Given the description of an element on the screen output the (x, y) to click on. 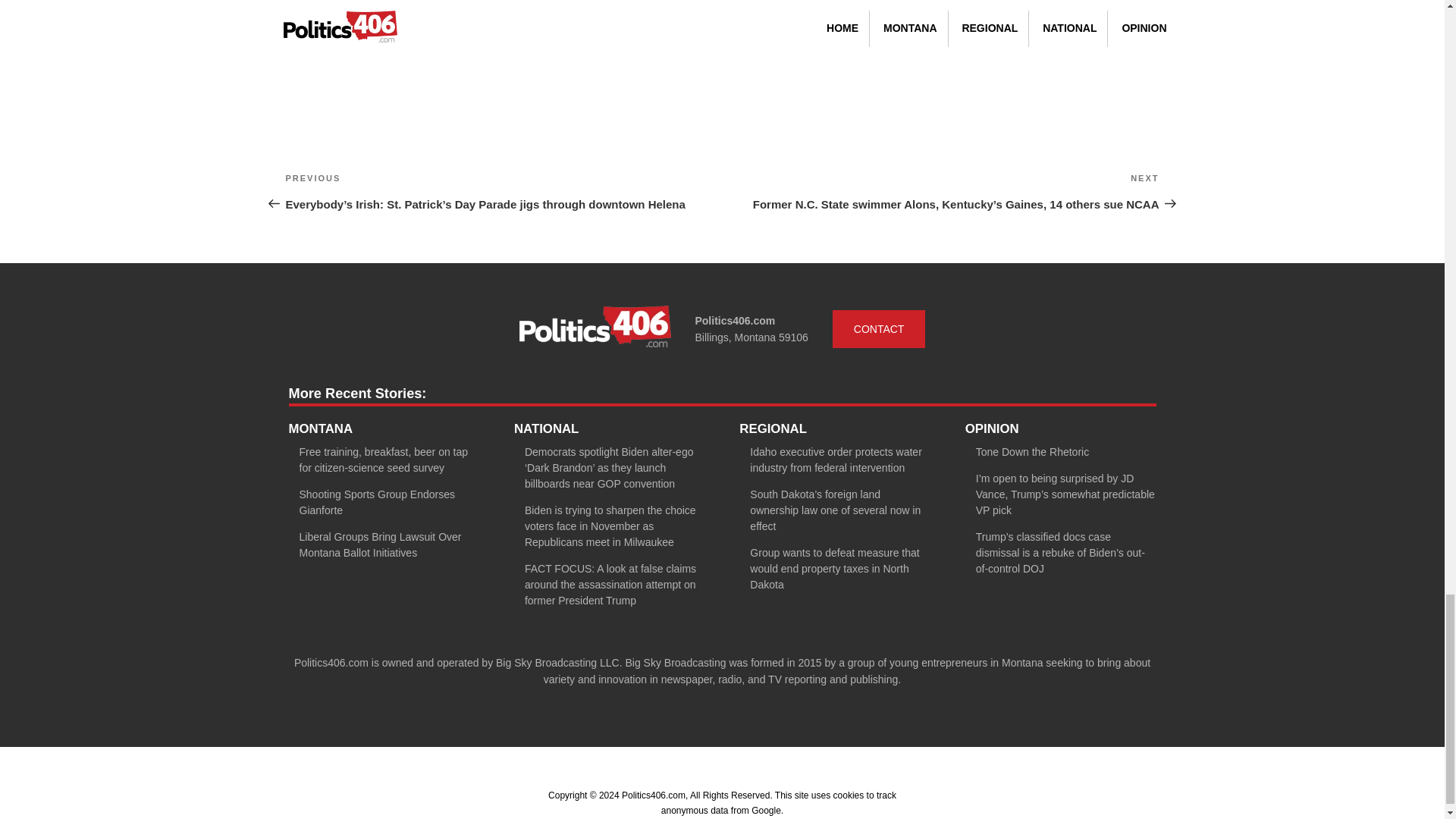
Liberal Groups Bring Lawsuit Over Montana Ballot Initiatives (379, 544)
Shooting Sports Group Endorses Gianforte (376, 502)
CONTACT (879, 329)
